Given the description of an element on the screen output the (x, y) to click on. 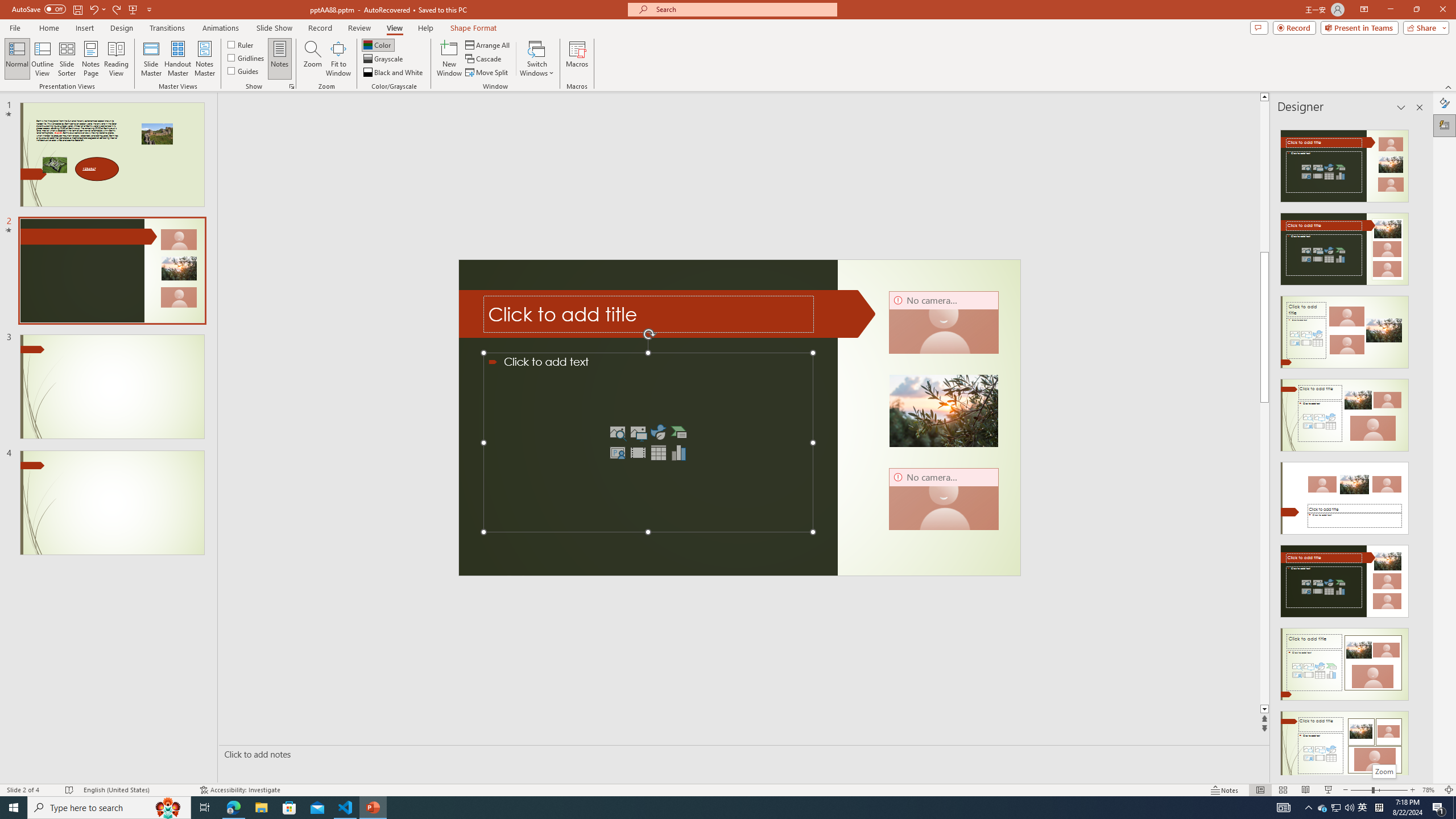
Camera 13, No camera detected. (943, 499)
Zoom 78% (1430, 790)
Notes Page (90, 58)
Stock Images (617, 432)
Grayscale (383, 58)
Insert a SmartArt Graphic (678, 432)
Black and White (393, 72)
